Given the description of an element on the screen output the (x, y) to click on. 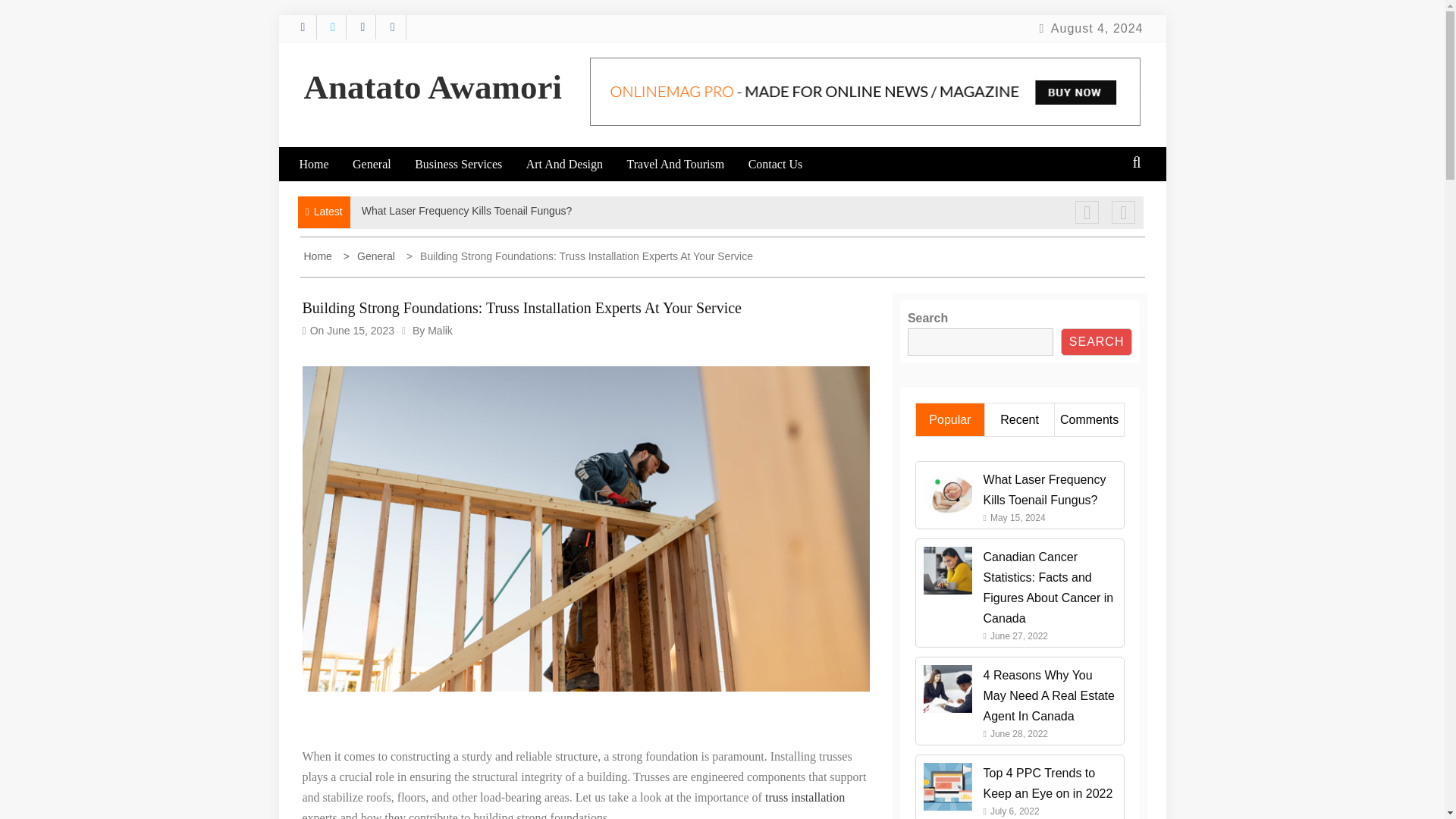
SEARCH (1096, 341)
Malik (440, 330)
Home (323, 163)
General (382, 163)
Business Services (468, 163)
truss installation (804, 797)
General (370, 256)
Recent (1019, 419)
Anatato Awamori (431, 86)
Popular (949, 419)
